Given the description of an element on the screen output the (x, y) to click on. 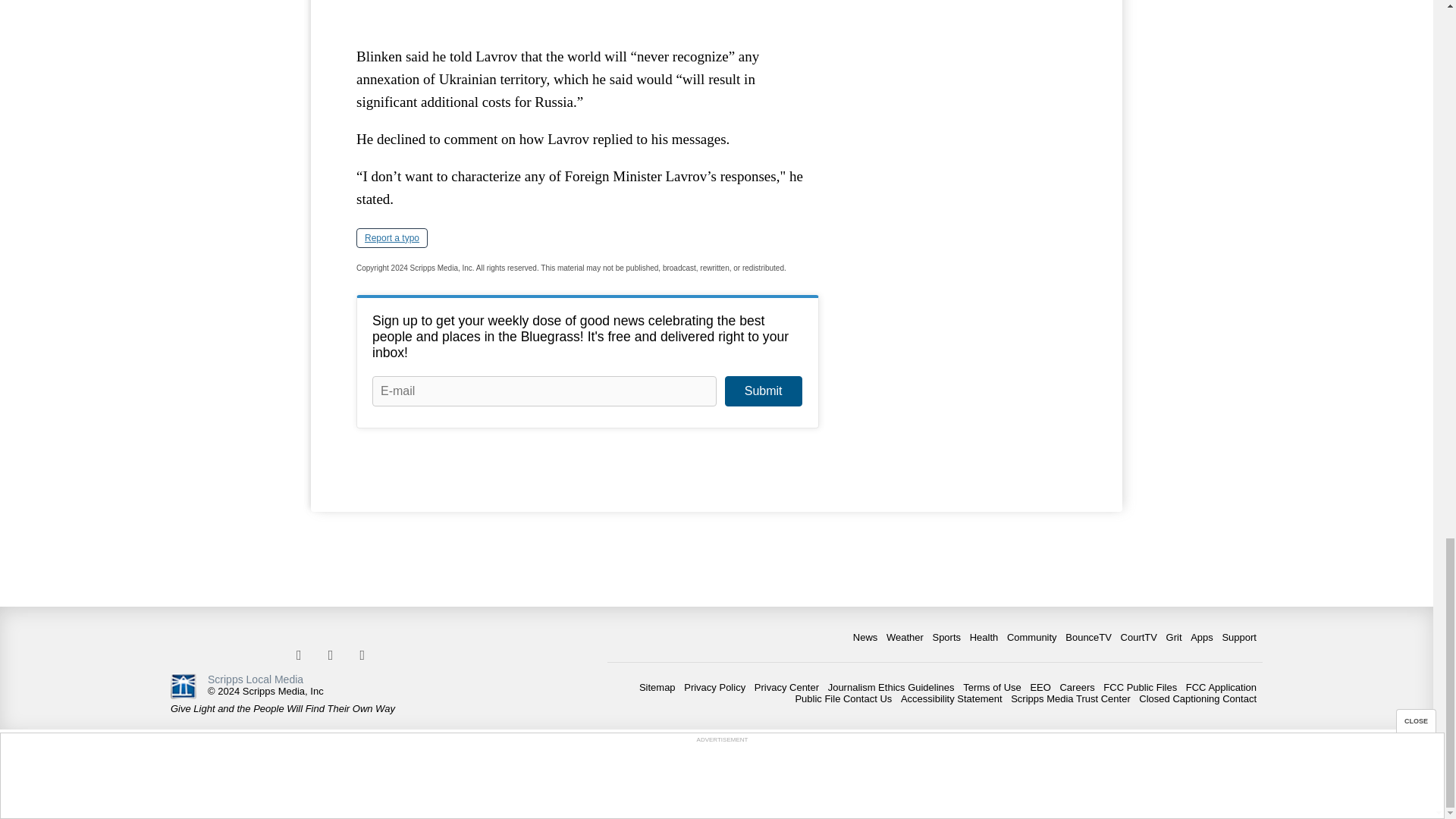
Submit (763, 390)
